Given the description of an element on the screen output the (x, y) to click on. 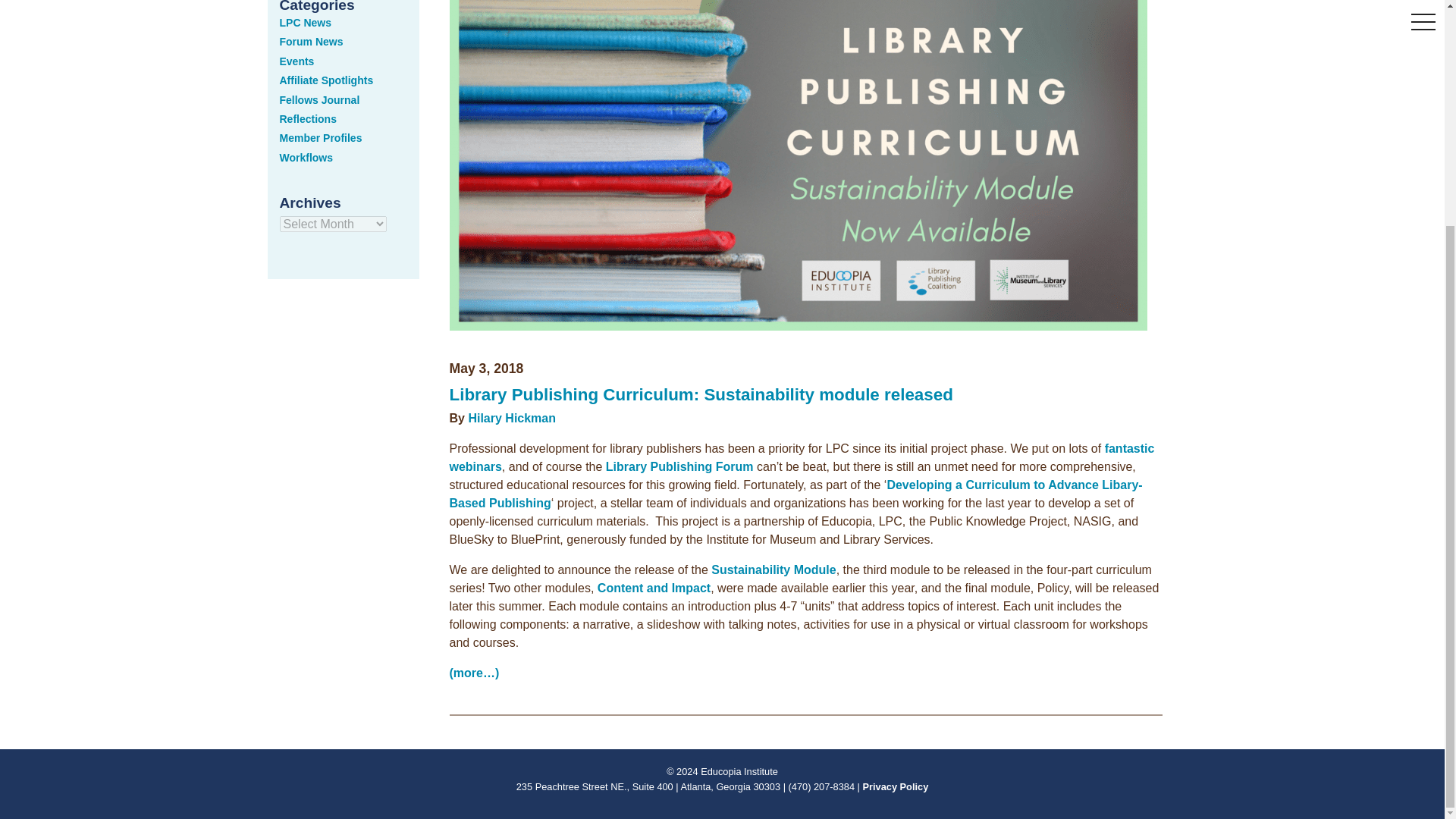
Events (296, 61)
Reflections (307, 119)
LPC News (304, 22)
Fellows Journal (319, 100)
fantastic webinars (801, 457)
Posts by Hilary Hickman (511, 418)
Affiliate Spotlights (325, 80)
Forum News (310, 41)
Workflows (306, 157)
Hilary Hickman (511, 418)
Member Profiles (320, 137)
